Given the description of an element on the screen output the (x, y) to click on. 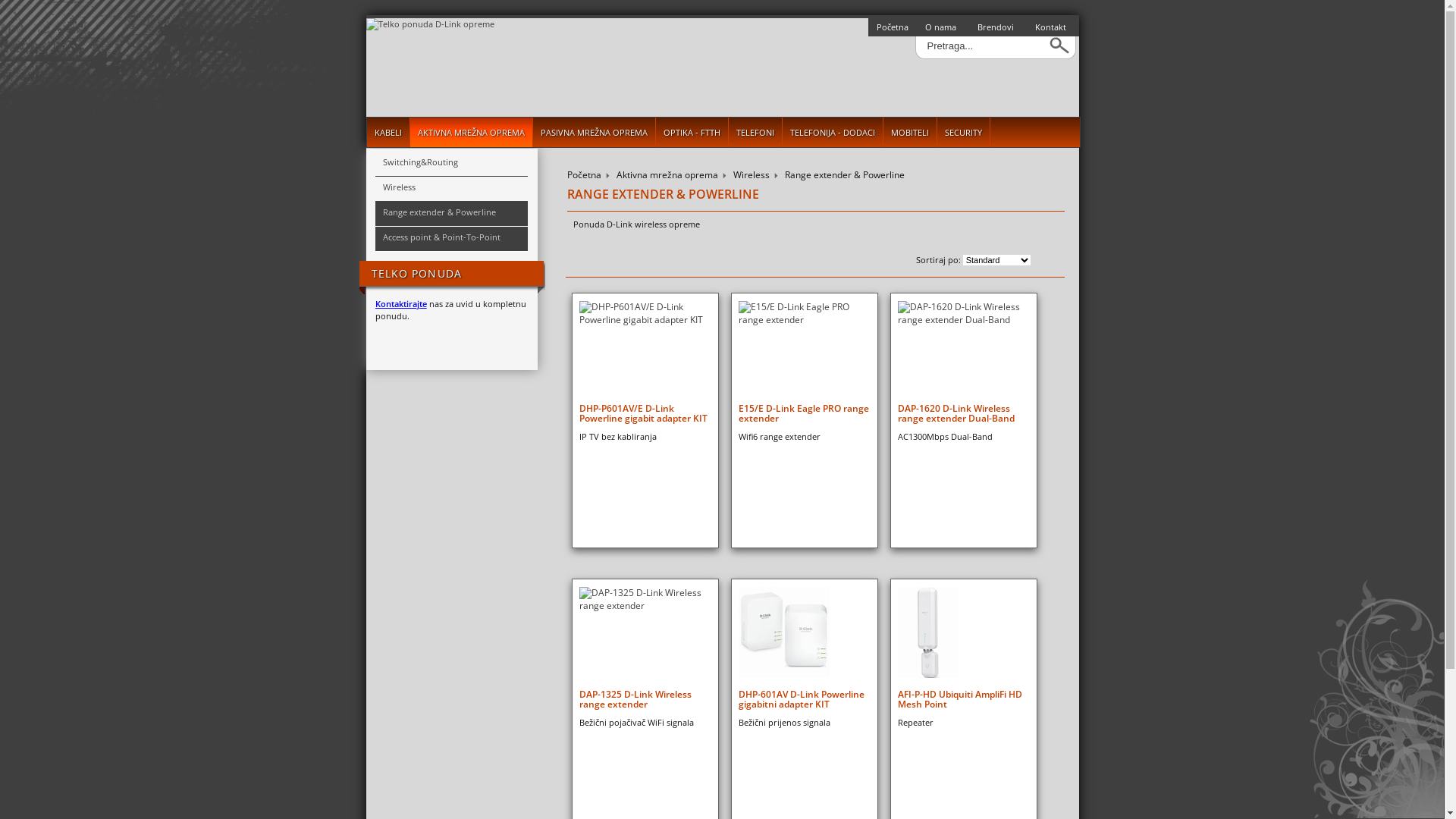
Wireless Element type: text (451, 188)
TELEFONIJA - DODACI Element type: text (832, 132)
Switching&Routing Element type: text (451, 163)
MOBITELI Element type: text (909, 132)
Access point & Point-To-Point Element type: text (451, 238)
Range extender & Powerline Element type: text (451, 213)
KABELI Element type: text (388, 132)
AFI-P-HD Ubiquiti AmpliFi HD Mesh Point Element type: text (963, 699)
Brendovi   Element type: text (997, 26)
DAP-1325 D-Link Wireless range extender Element type: text (644, 699)
Wireless Element type: text (751, 175)
Range extender & Powerline Element type: text (844, 175)
OPTIKA - FTTH Element type: text (691, 132)
SECURITY Element type: text (963, 132)
E15/E D-Link Eagle PRO range extender Element type: text (803, 413)
Kontaktirajte Element type: text (400, 303)
DHP-601AV D-Link Powerline gigabitni adapter KIT Element type: text (803, 699)
DAP-1620 D-Link Wireless range extender Dual-Band Element type: text (963, 413)
TELEFONI Element type: text (754, 132)
O nama   Element type: text (942, 26)
DHP-P601AV/E D-Link Powerline gigabit adapter KIT Element type: text (644, 413)
Kontakt   Element type: text (1052, 26)
